Given the description of an element on the screen output the (x, y) to click on. 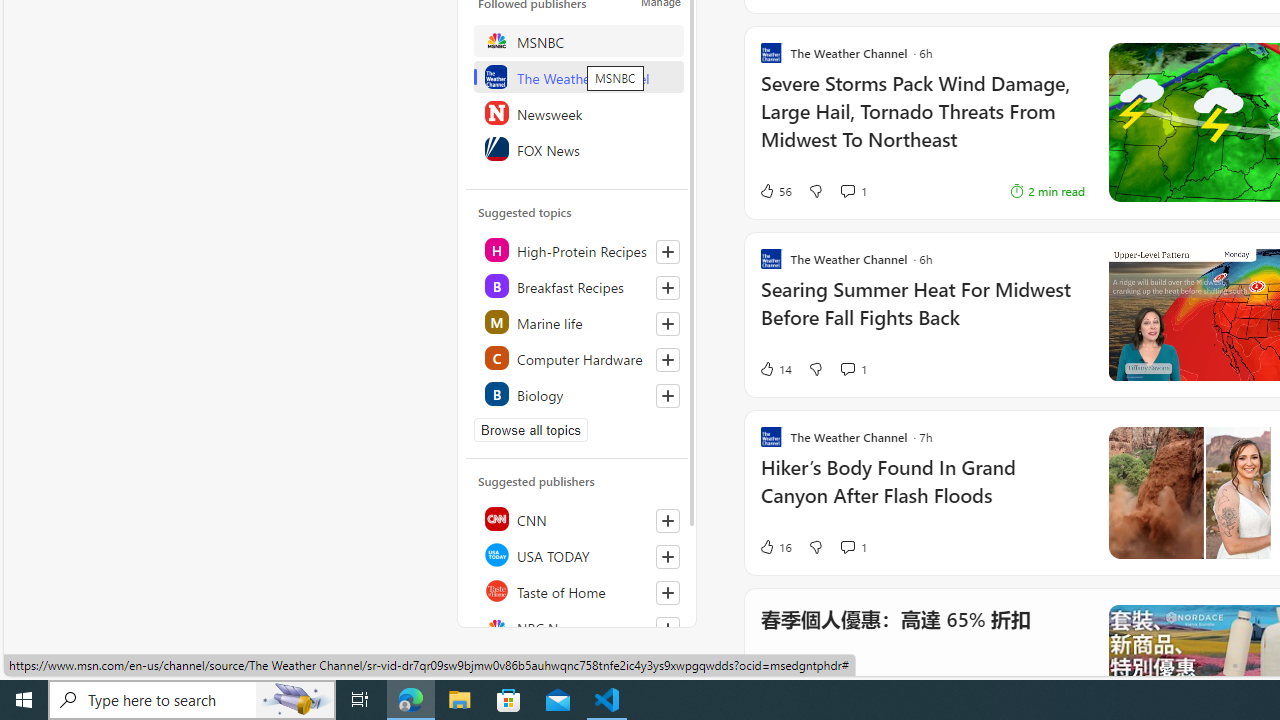
MSNBC (578, 40)
FOX News (578, 148)
Class: highlight (578, 393)
14 Like (775, 368)
Taste of Home (578, 590)
Newsweek (578, 112)
